Given the description of an element on the screen output the (x, y) to click on. 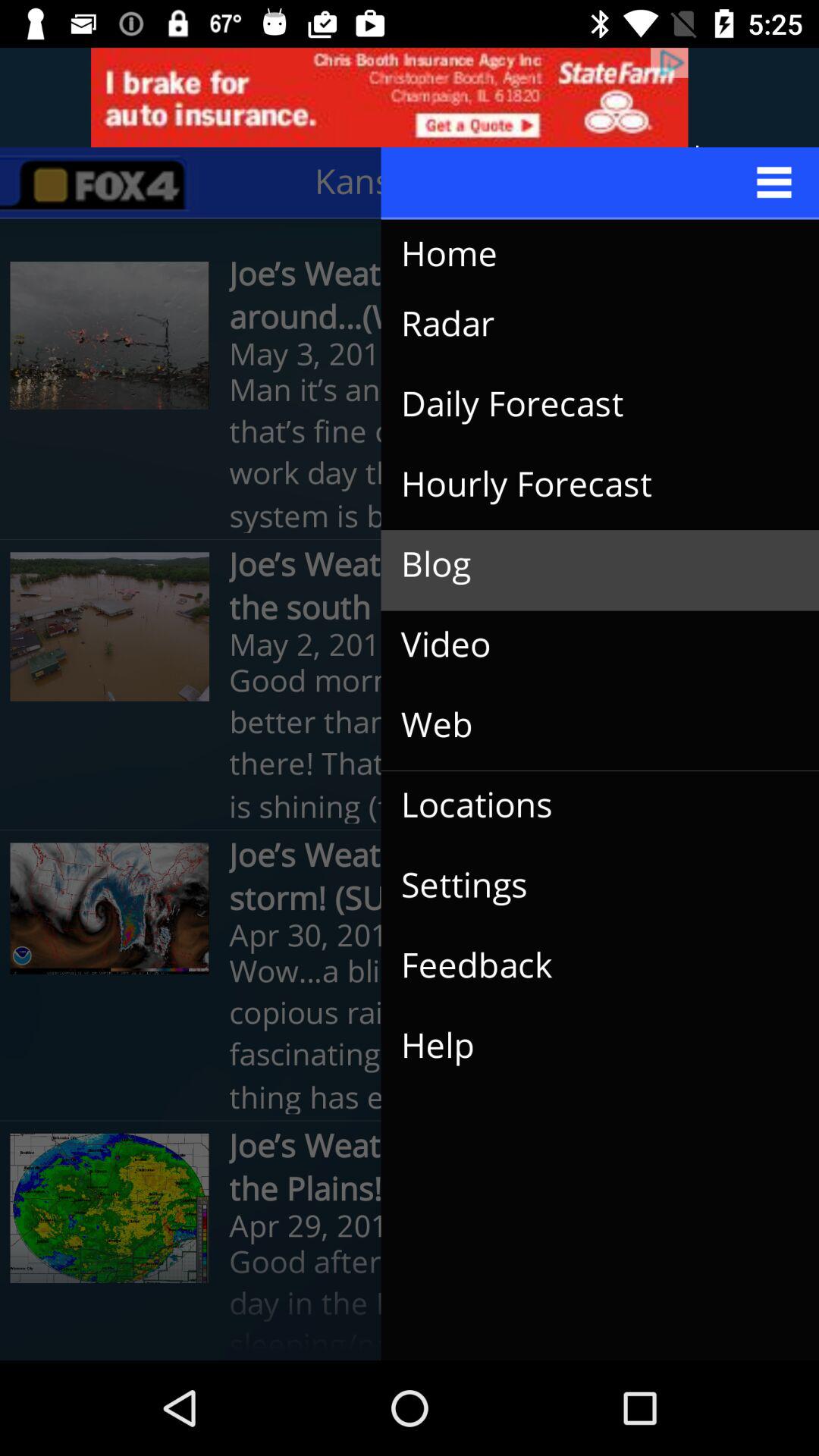
turn off icon below daily forecast icon (587, 484)
